Given the description of an element on the screen output the (x, y) to click on. 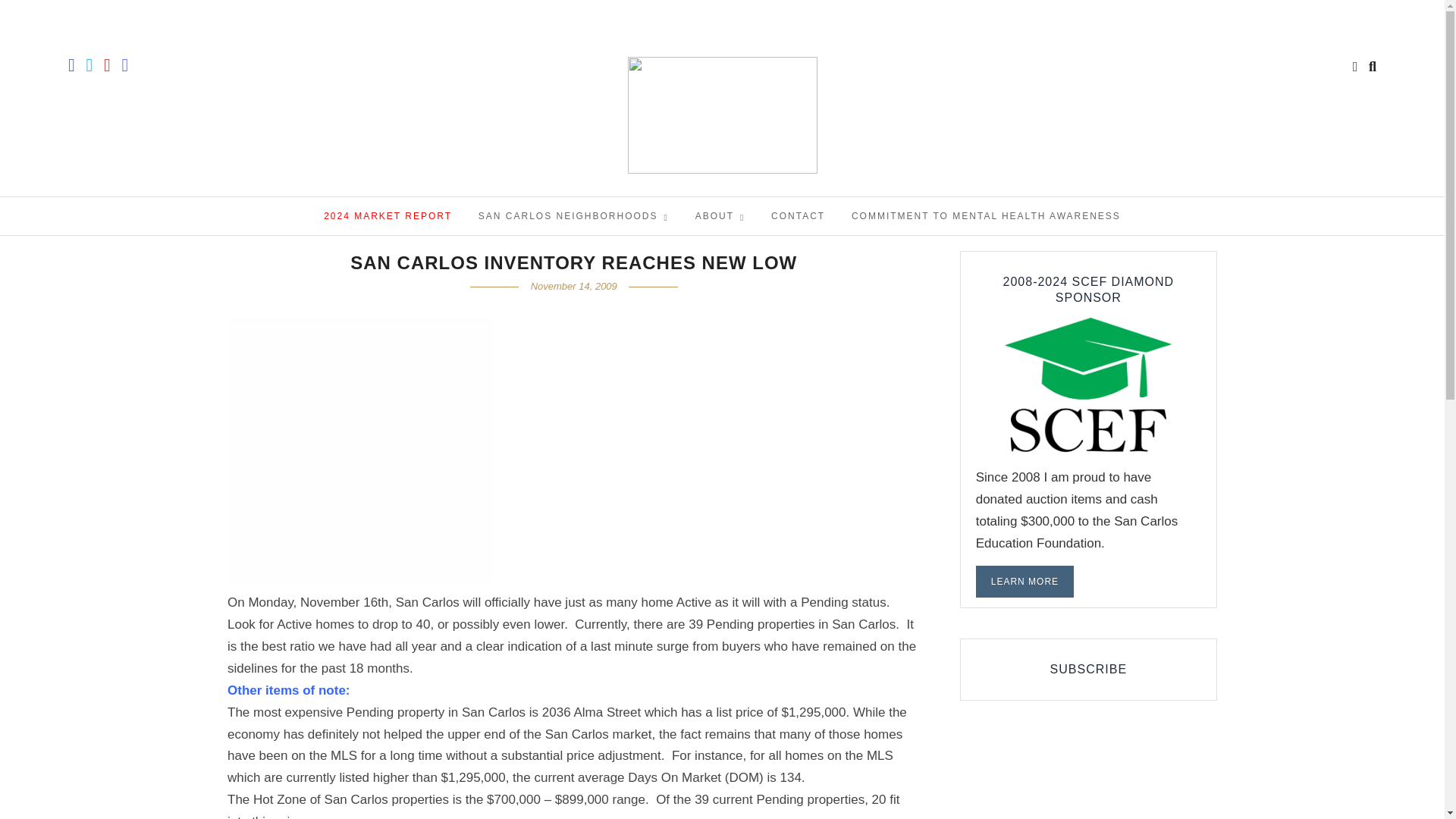
CONTACT (797, 216)
ABOUT (720, 216)
SAN CARLOS NEIGHBORHOODS (573, 216)
COMMITMENT TO MENTAL HEALTH AWARENESS (986, 216)
2024 MARKET REPORT (388, 216)
